Given the description of an element on the screen output the (x, y) to click on. 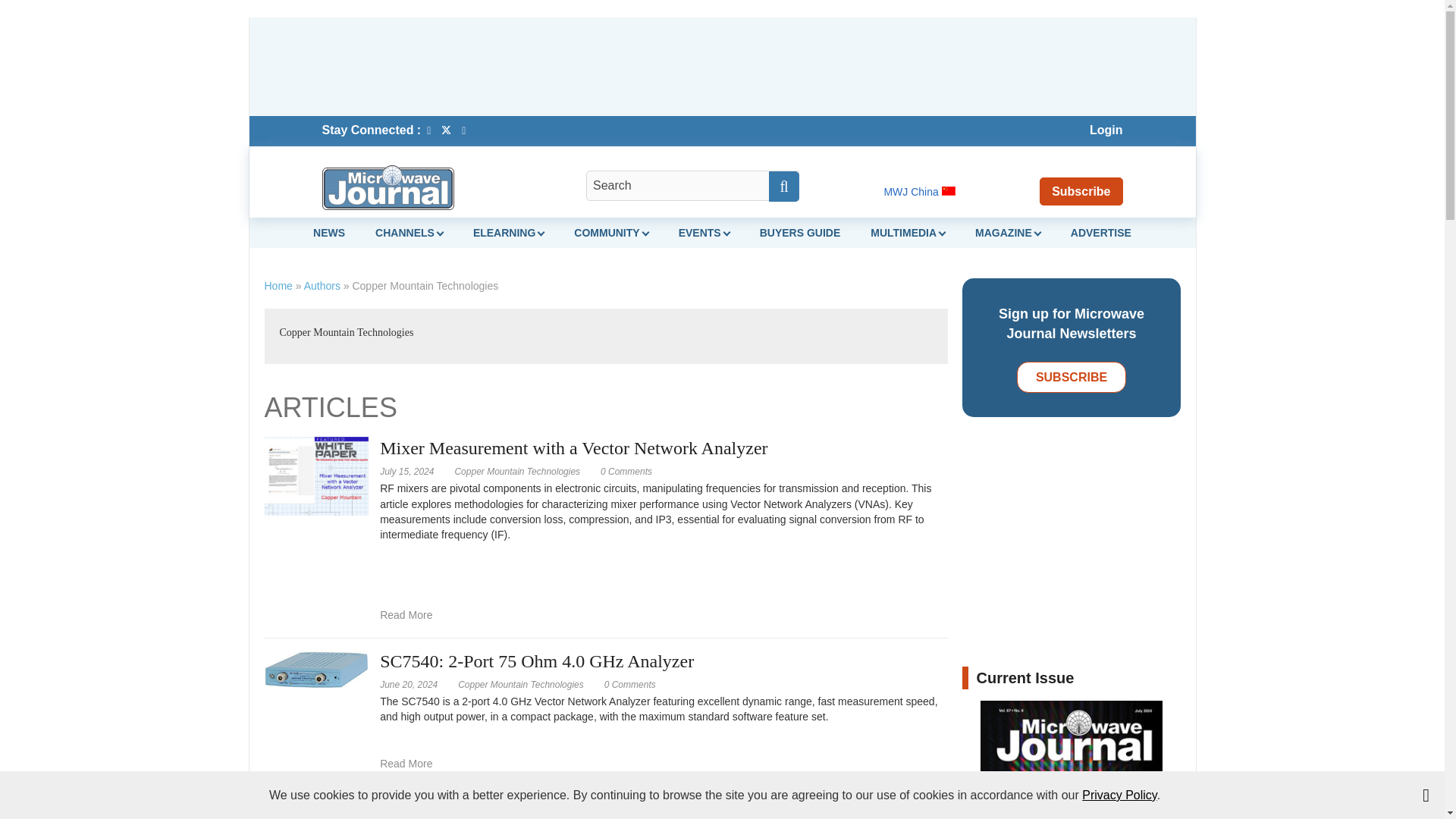
SC7540 Image -left.jpg (315, 669)
Mixer Measurement with a Vector Network Analyzer (315, 475)
SC7540:  2-Port 75 Ohm 4.0 GHz Analyzer (406, 763)
SC7540:  2-Port 75 Ohm 4.0 GHz Analyzer (315, 668)
SC7540:  2-Port 75 Ohm 4.0 GHz Analyzer (630, 684)
3rd party ad content (721, 66)
Mixer Measurement with a Vector Network Analyzer (406, 614)
Mixer Measurement with a Vector Network Analyzer (625, 471)
